Given the description of an element on the screen output the (x, y) to click on. 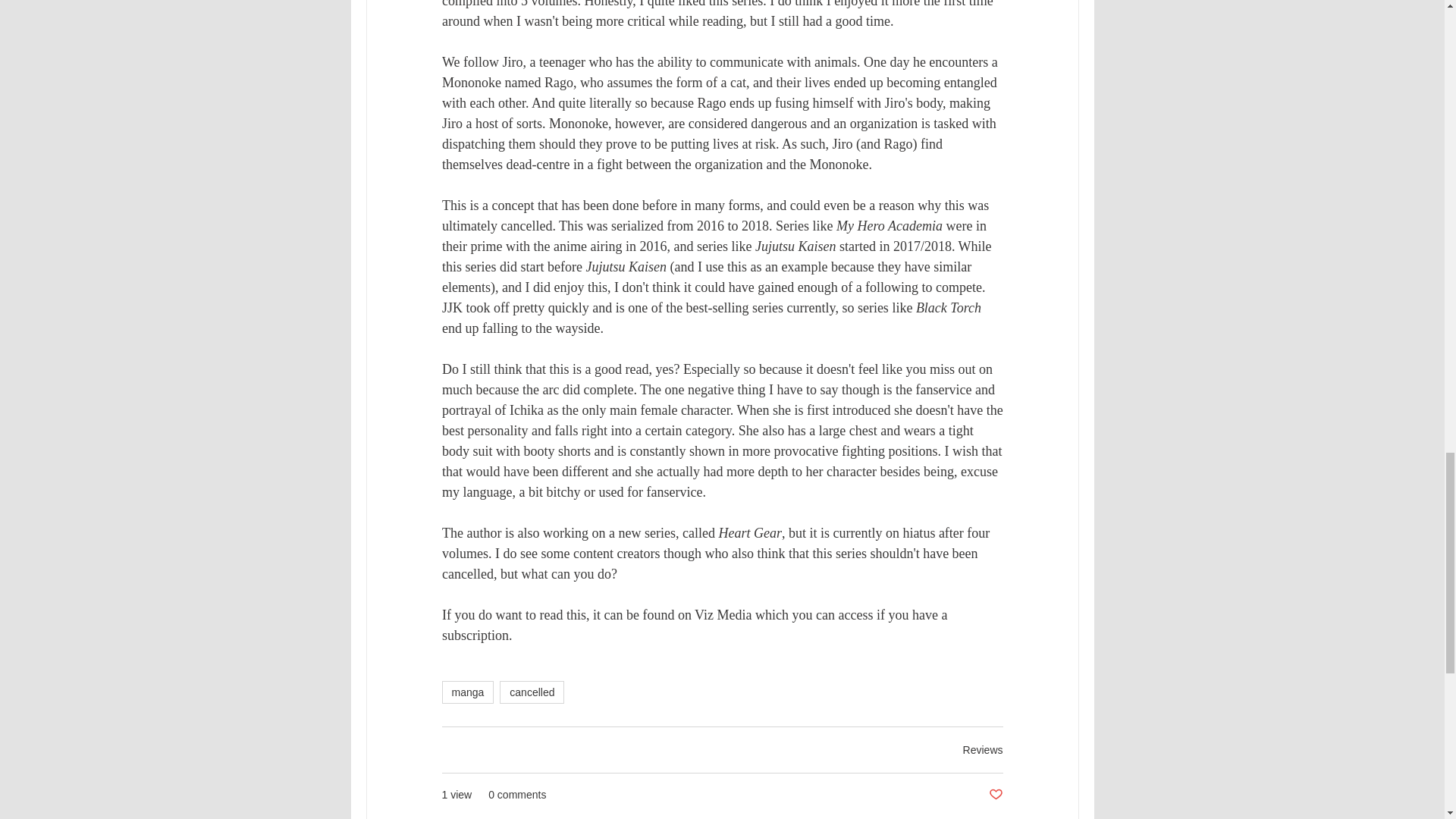
manga (467, 691)
Reviews (982, 749)
cancelled (531, 691)
Post not marked as liked (995, 795)
